Given the description of an element on the screen output the (x, y) to click on. 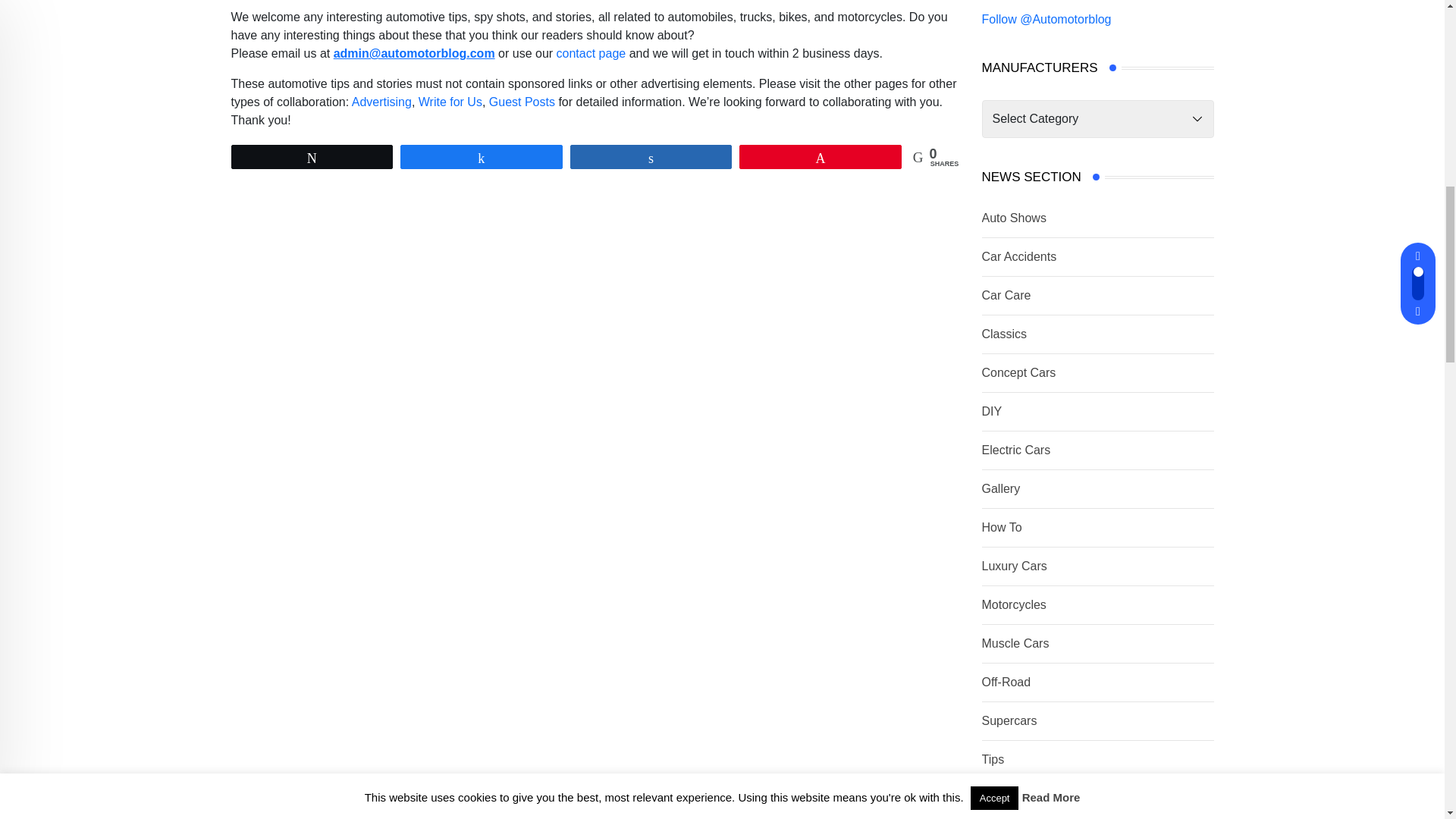
Write for Us - Automotive Automobile Car Blog (450, 101)
Guest Posts on Automotive Automobile Car Blogs (521, 101)
Advertise on Automotive Automobile Car Blog (382, 101)
